Given the description of an element on the screen output the (x, y) to click on. 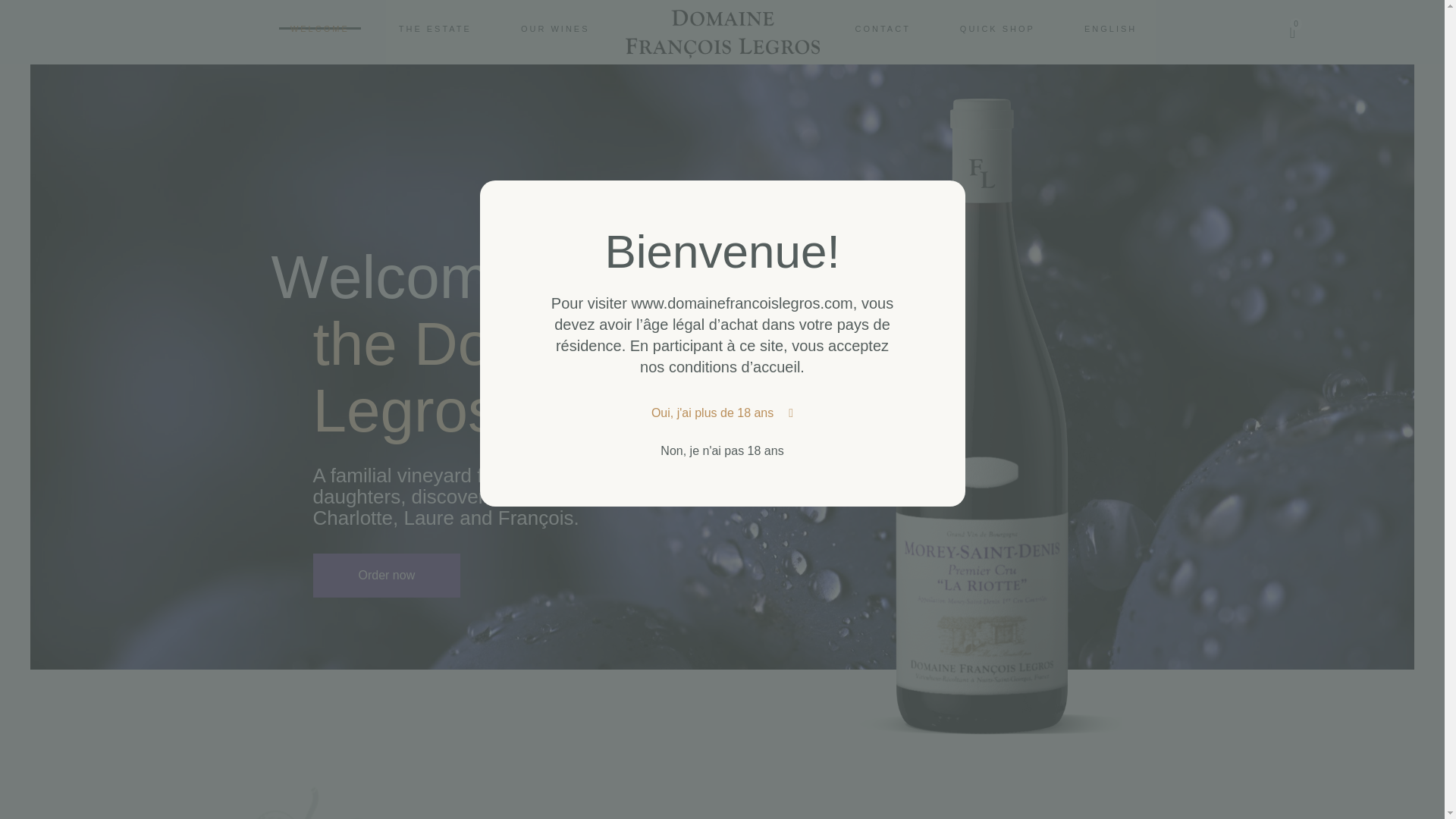
WELCOME (320, 27)
ENGLISH (1110, 27)
QUICK SHOP (995, 33)
OUR WINES (997, 27)
CONTACT (555, 27)
THE ESTATE (882, 27)
